Given the description of an element on the screen output the (x, y) to click on. 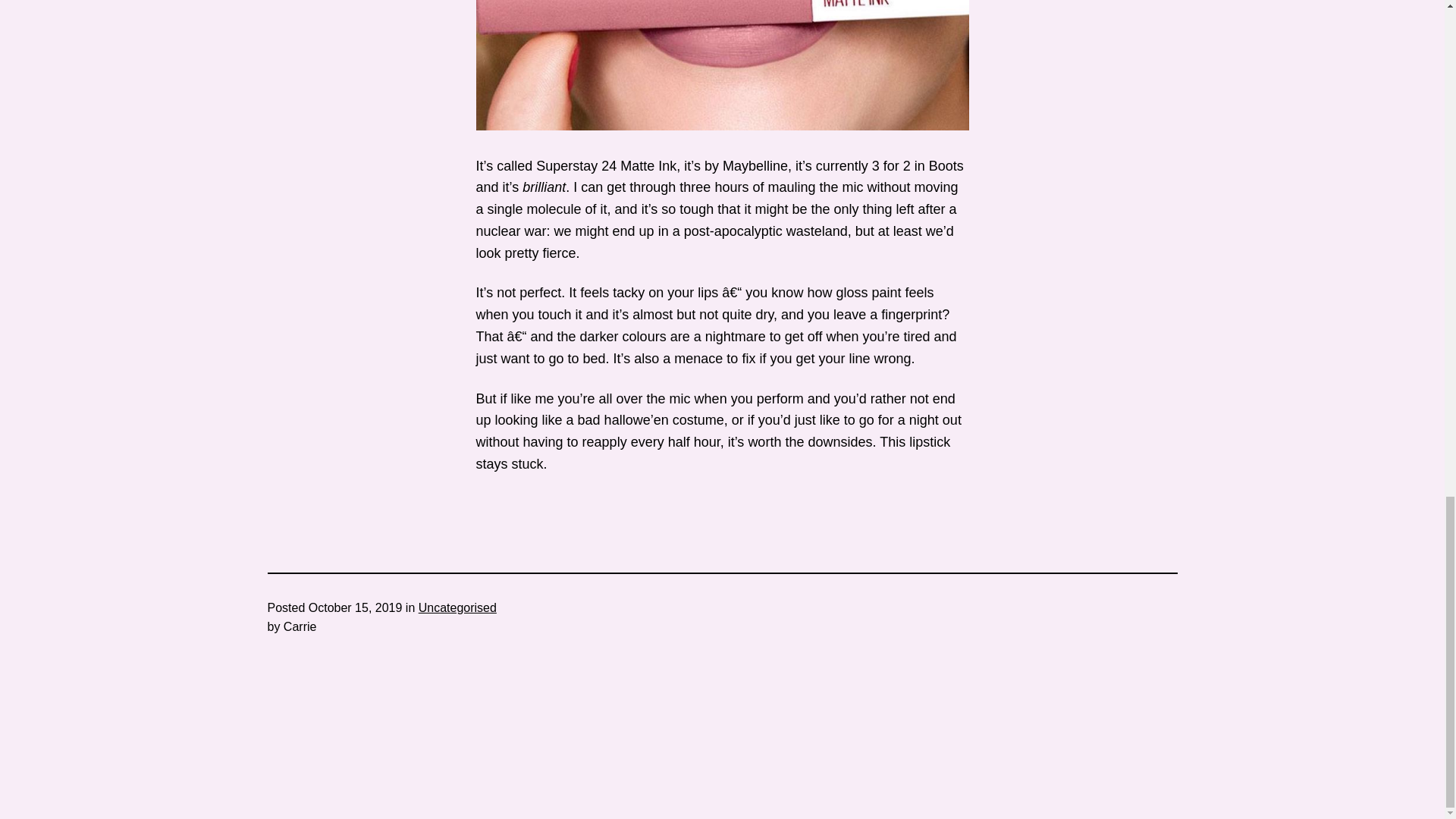
Uncategorised (457, 607)
